Given the description of an element on the screen output the (x, y) to click on. 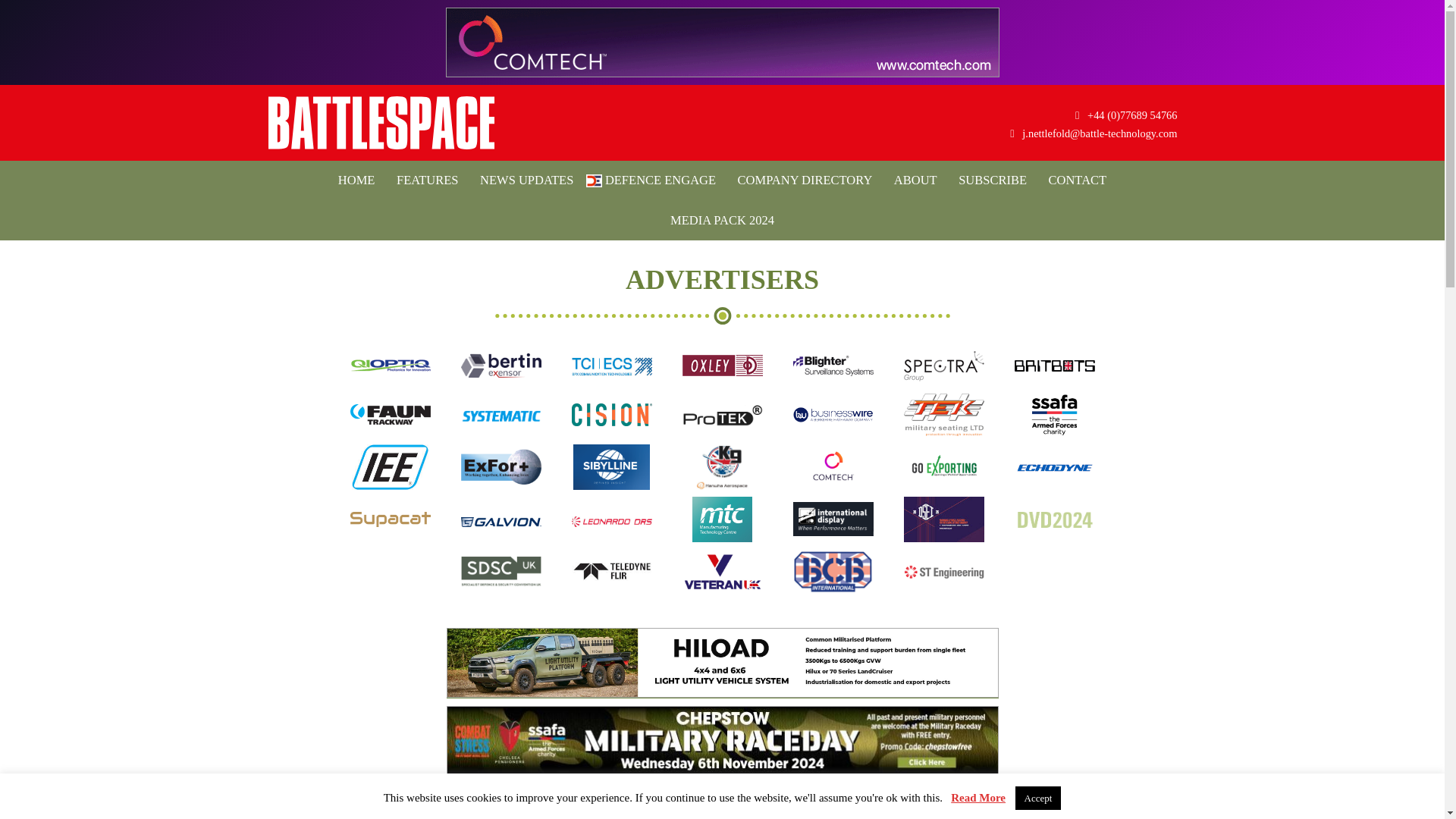
BATTLESPACE Updates (380, 122)
SUBSCRIBE (992, 180)
COMPANY DIRECTORY (805, 180)
DEFENCE ENGAGE (655, 180)
MEDIA PACK 2024 (722, 219)
HOME (356, 180)
Opens PDF in new window. (722, 219)
ABOUT (915, 180)
FEATURES (427, 180)
qioptiq.com (390, 374)
NEWS UPDATES (526, 180)
CONTACT (1077, 180)
